Given the description of an element on the screen output the (x, y) to click on. 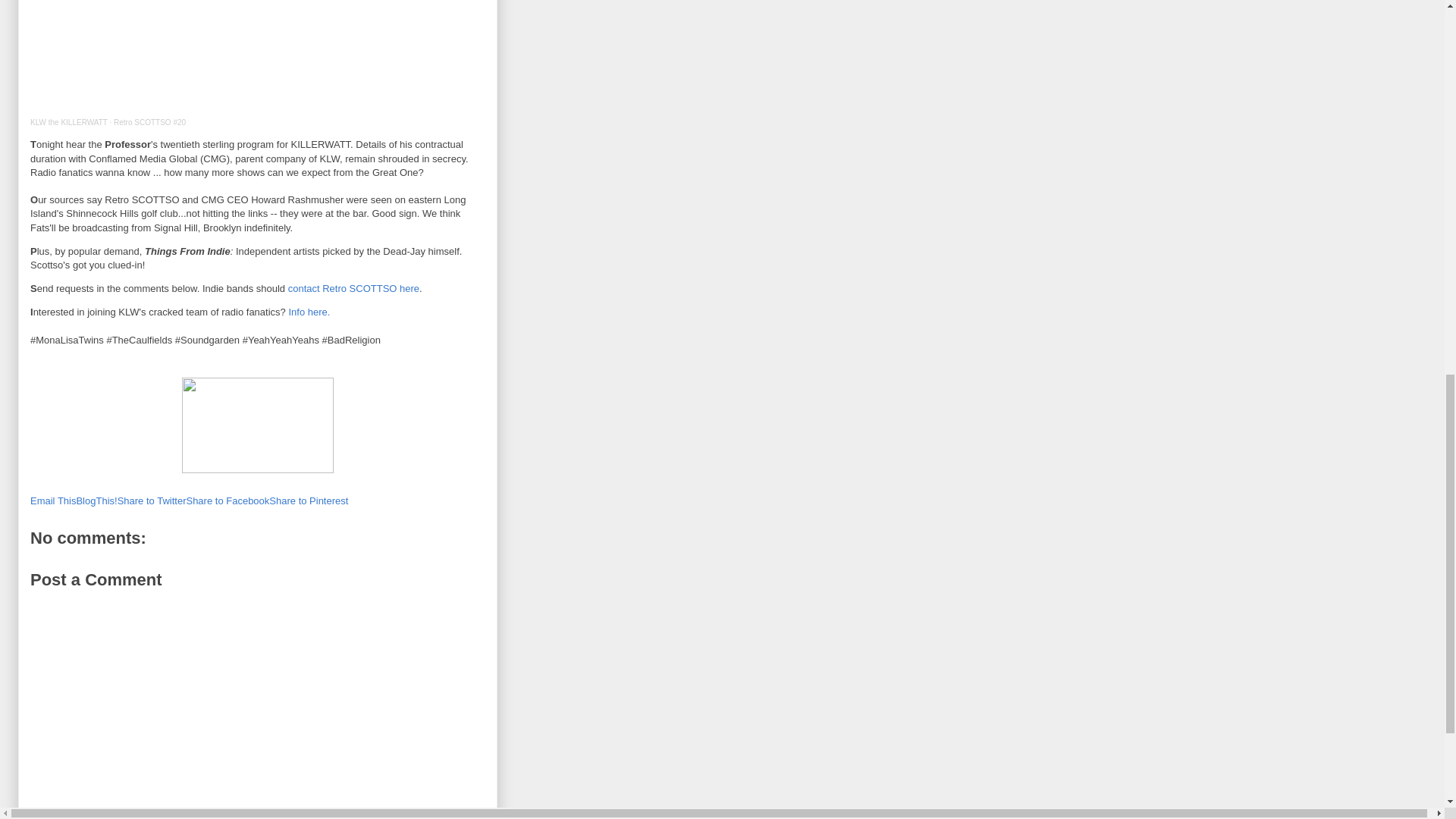
BlogThis! (95, 500)
Share to Facebook (227, 500)
Share to Twitter (151, 500)
Share to Facebook (227, 500)
Share to Pinterest (308, 500)
Email This (52, 500)
KLW the KILLERWATT (68, 121)
BlogThis! (95, 500)
contact Retro SCOTTSO here (353, 288)
Info here. (309, 311)
